Given the description of an element on the screen output the (x, y) to click on. 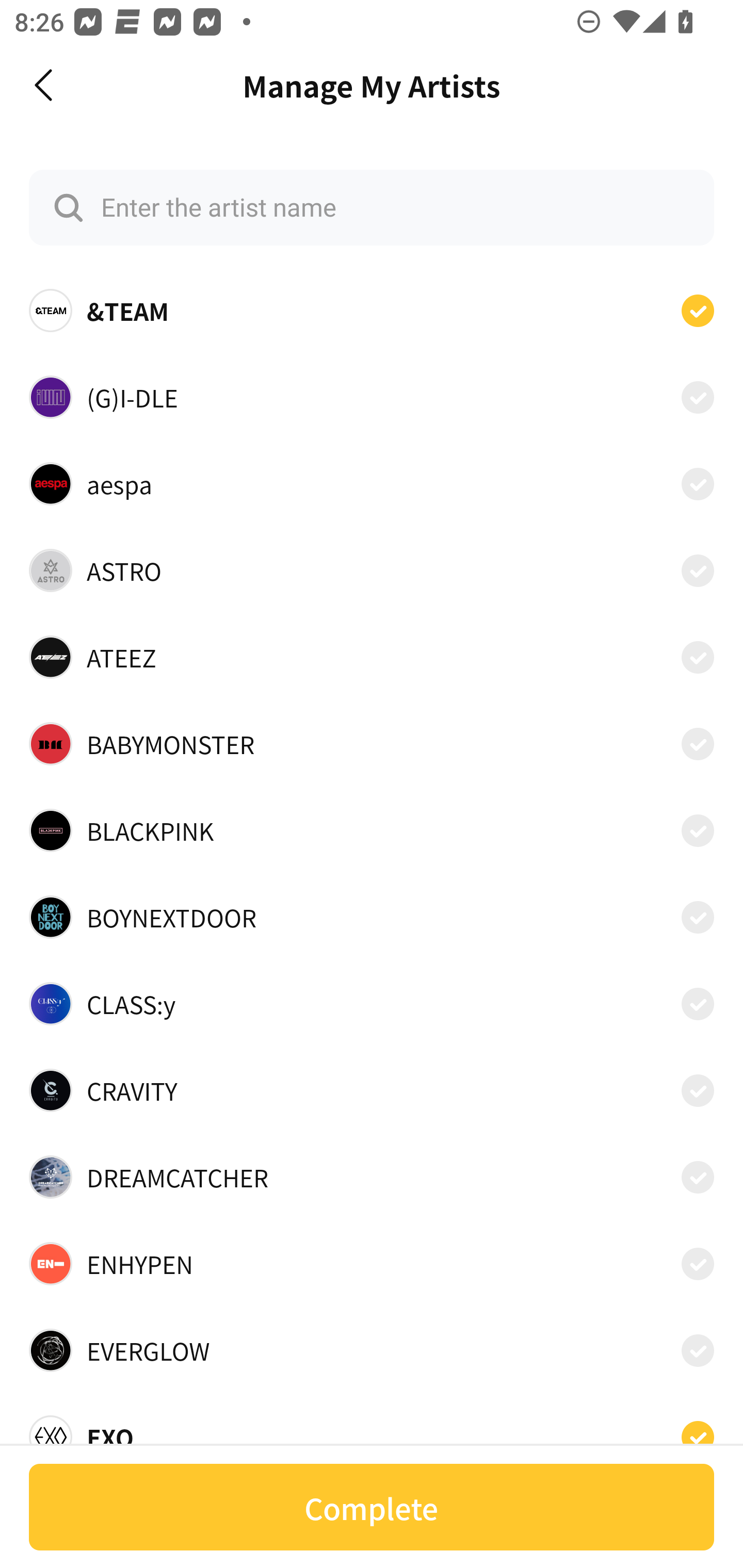
Enter the artist name (371, 207)
&TEAM (371, 310)
(G)I-DLE (371, 396)
aespa (371, 483)
ASTRO (371, 570)
ATEEZ (371, 656)
BABYMONSTER (371, 743)
BLACKPINK (371, 830)
BOYNEXTDOOR (371, 917)
CLASS:y (371, 1003)
CRAVITY (371, 1090)
DREAMCATCHER (371, 1176)
ENHYPEN (371, 1263)
EVERGLOW (371, 1350)
EXO (371, 1430)
Complete (371, 1507)
